Given the description of an element on the screen output the (x, y) to click on. 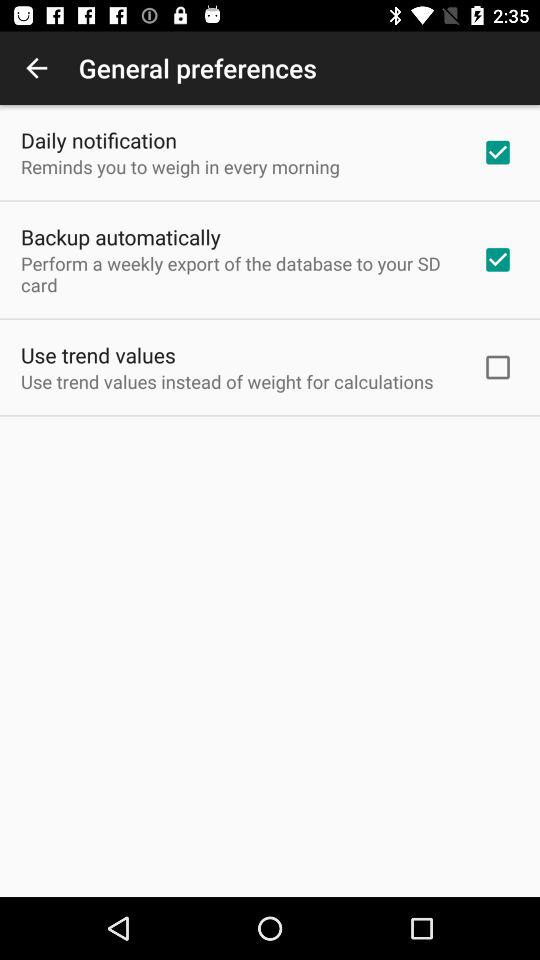
flip until the backup automatically app (120, 236)
